Given the description of an element on the screen output the (x, y) to click on. 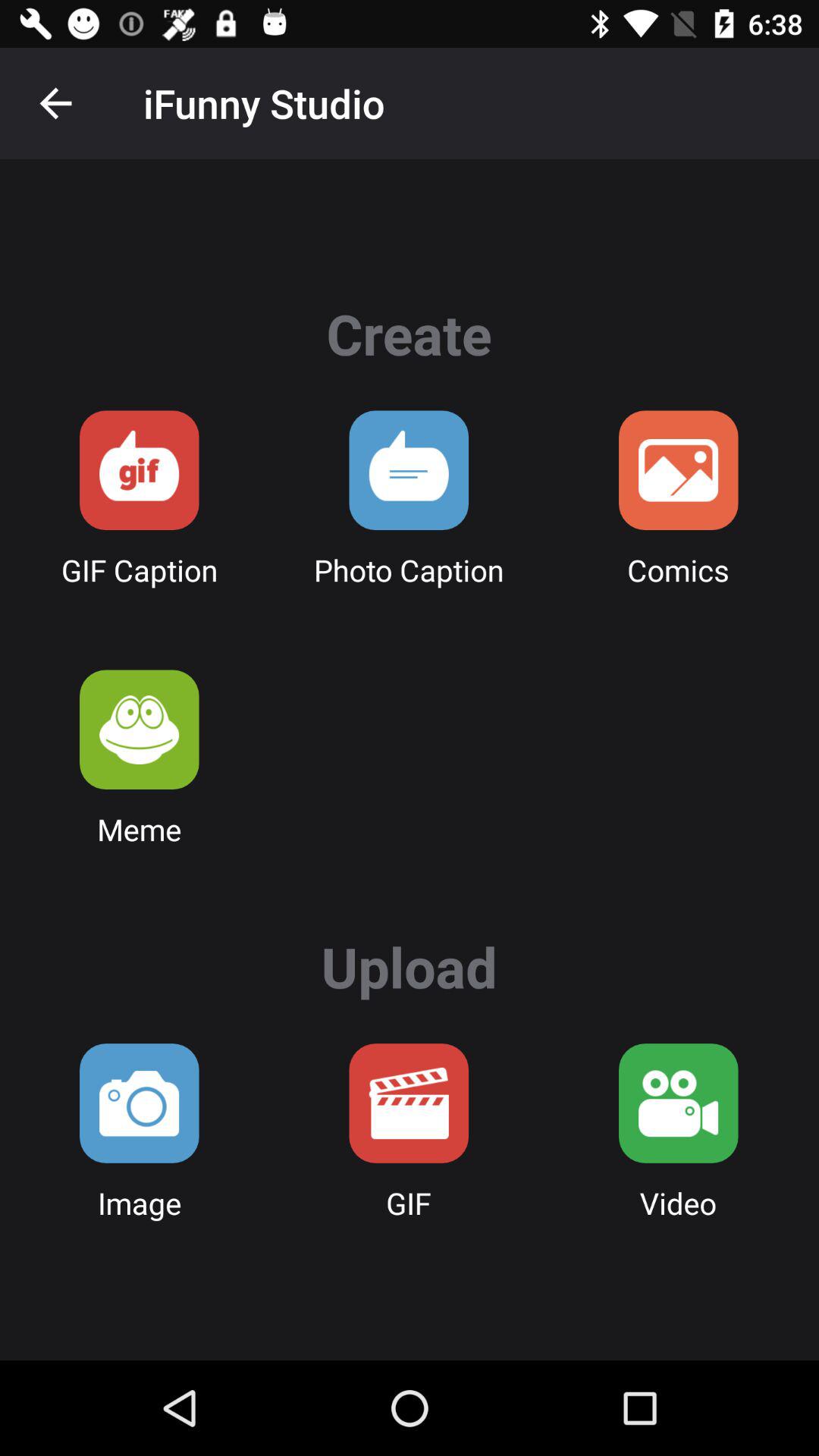
upload video (678, 1103)
